Given the description of an element on the screen output the (x, y) to click on. 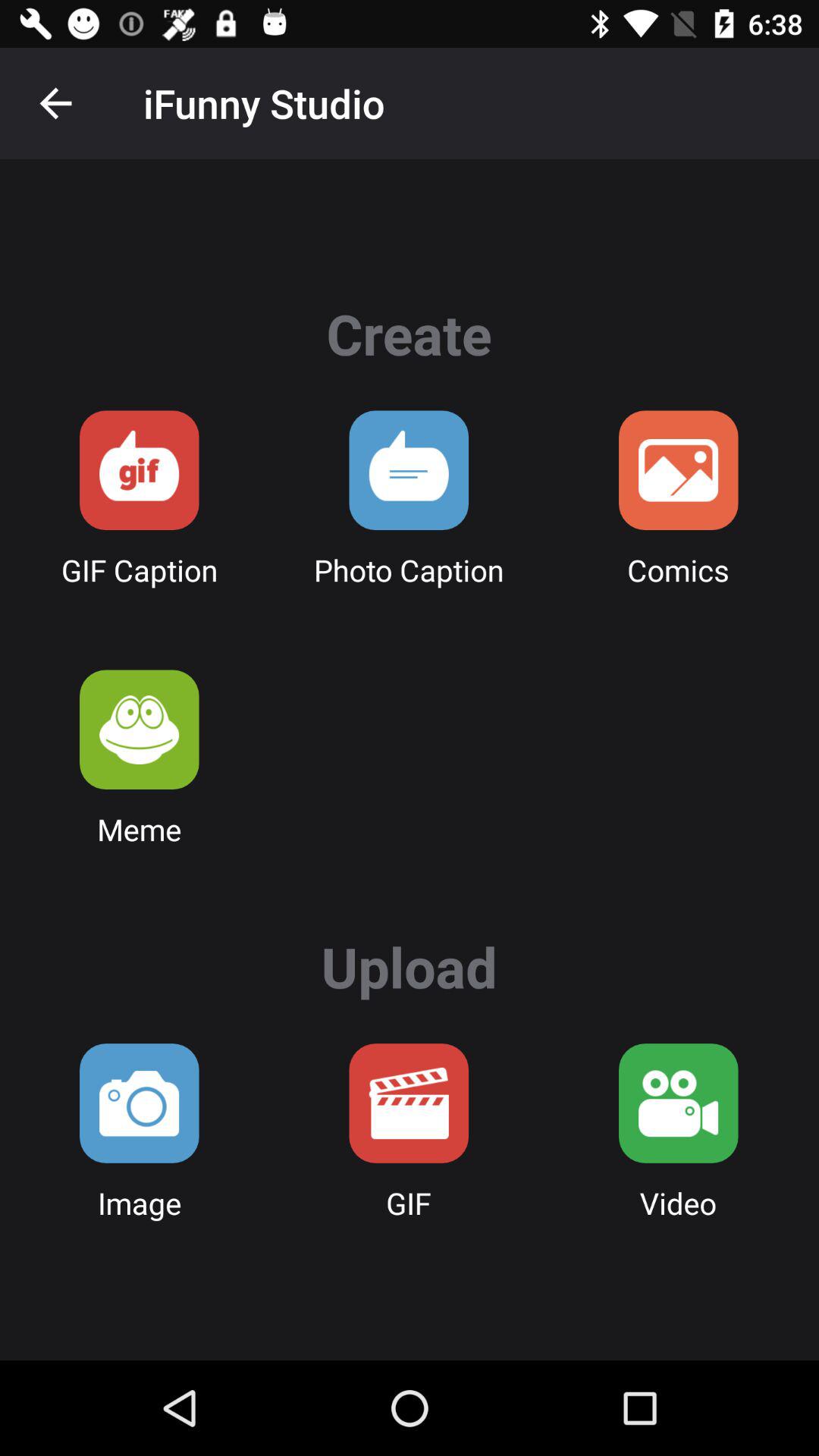
upload video (678, 1103)
